Given the description of an element on the screen output the (x, y) to click on. 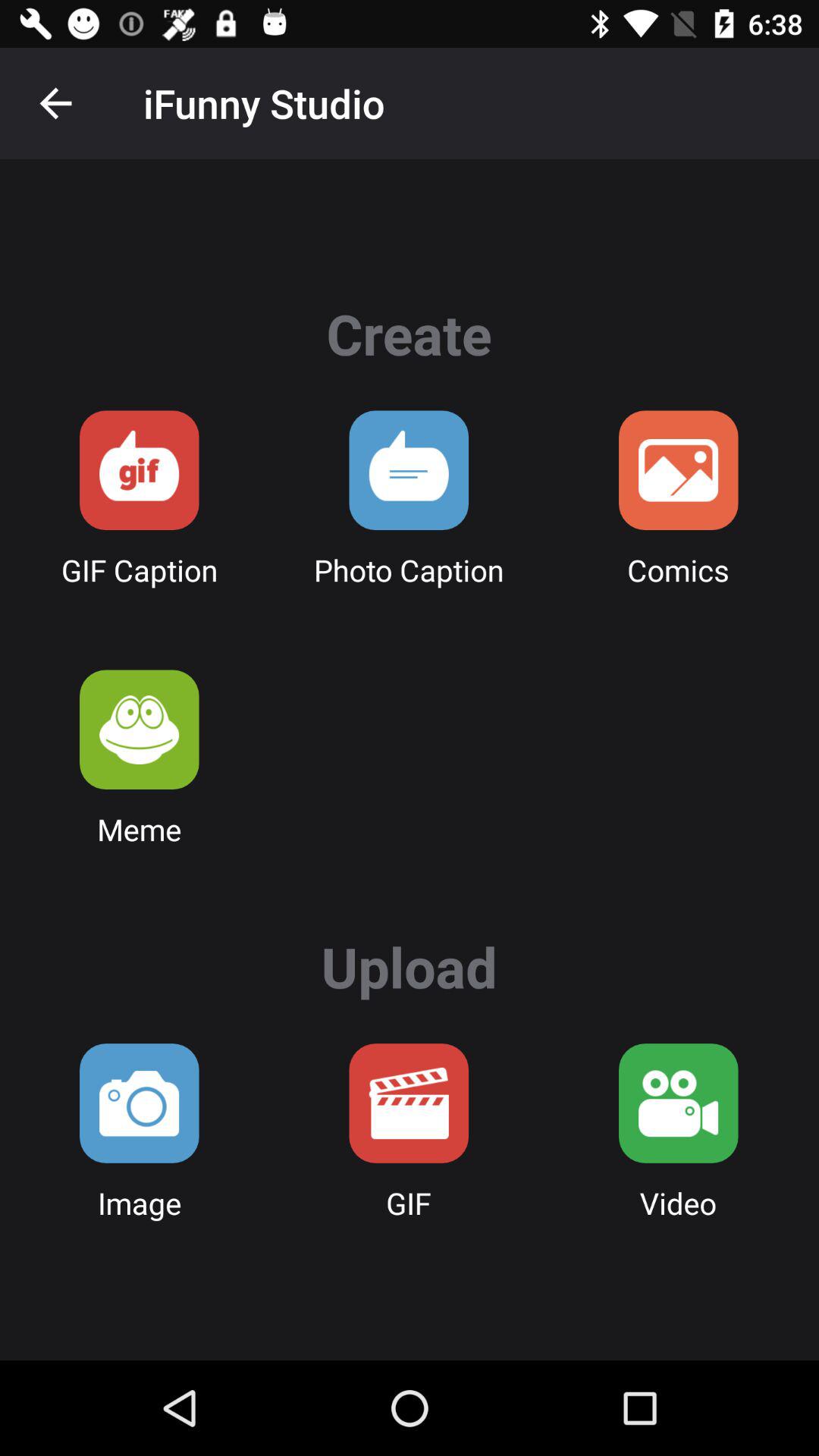
upload video (678, 1103)
